Given the description of an element on the screen output the (x, y) to click on. 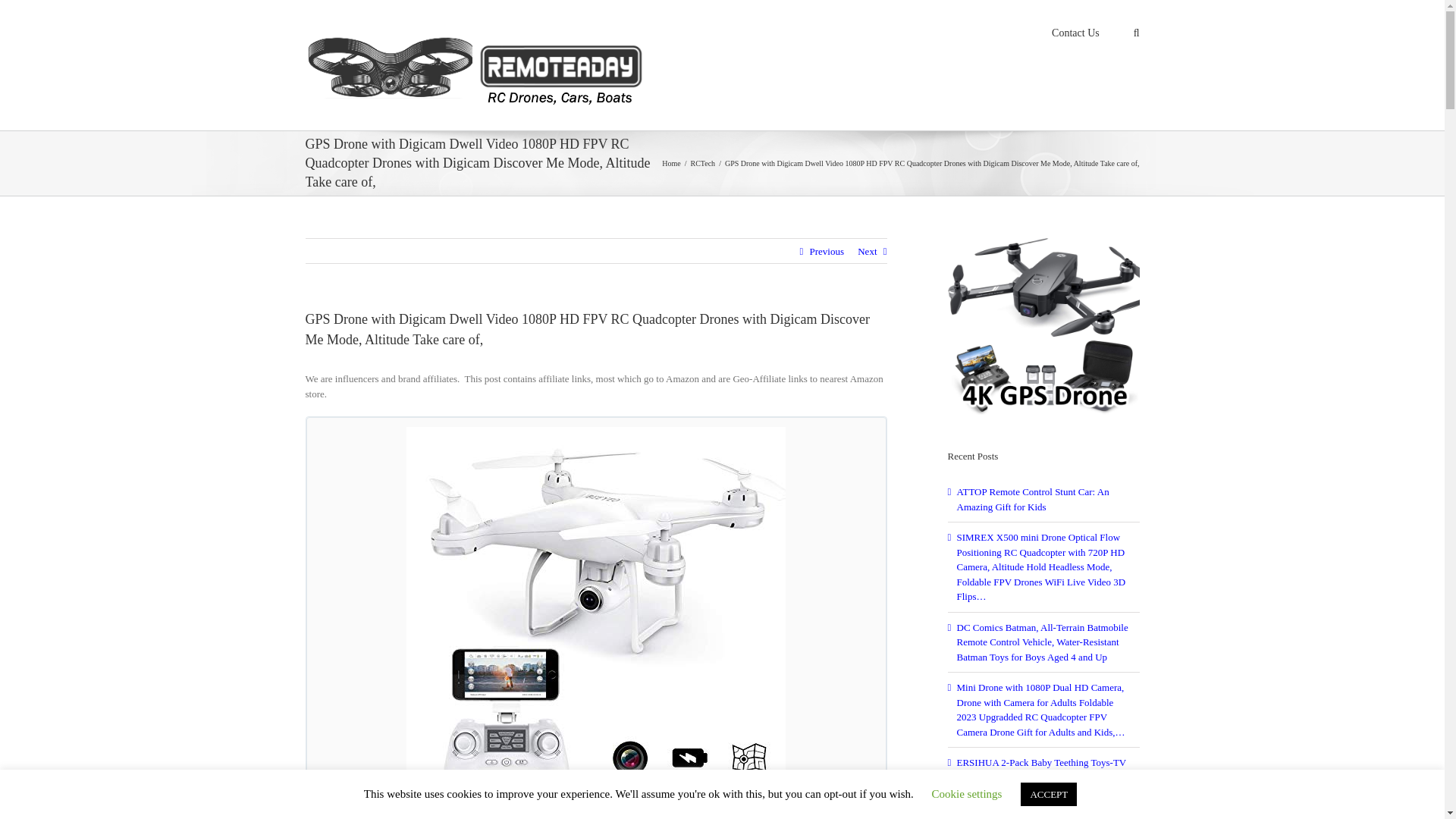
All Offers (833, 816)
Previous (826, 251)
Technical Details (451, 816)
Buy Now (357, 816)
RCTech (702, 162)
Add To Wishlist (561, 816)
Tell A Friend (660, 816)
All Reviews (750, 816)
Home (670, 162)
